Given the description of an element on the screen output the (x, y) to click on. 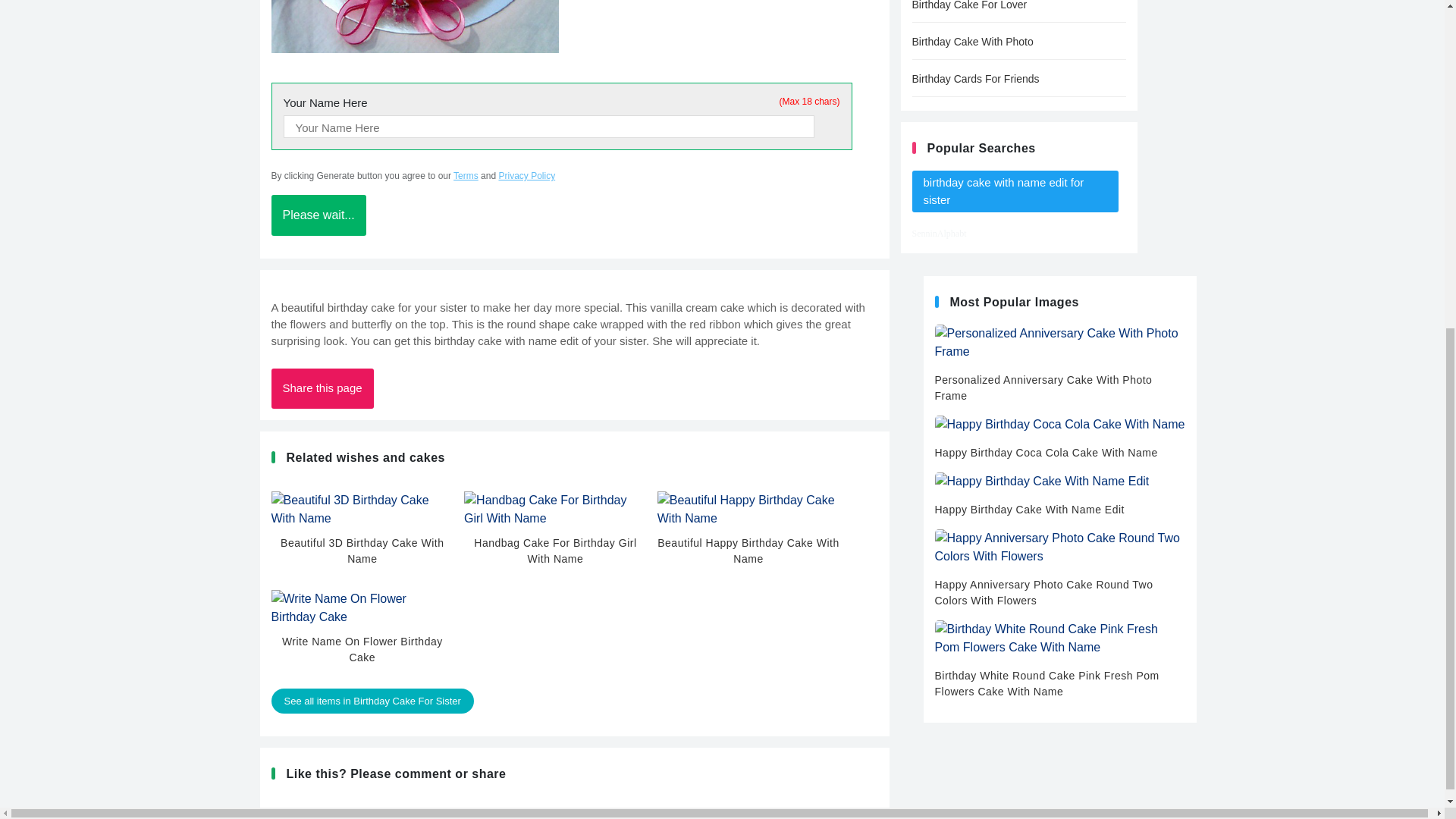
Happy Birthday Cake With Name Edit (1059, 494)
Happy Birthday Coca Cola Cake With Name (1059, 438)
birthday cake with name edit for sister (1014, 191)
Birthday Cards For Friends (1018, 79)
Beautiful Happy Birthday Cake With Name (749, 534)
See all items in Birthday Cake For Sister (372, 701)
Birthday Cake With Photo (1018, 41)
Happy Anniversary Photo Cake Round Two Colors With Flowers (1059, 569)
Privacy Policy (525, 175)
Personalized Anniversary Cake With Photo Frame (1059, 364)
Terms (465, 175)
Beautiful 3D Birthday Cake With Name (362, 534)
Please wait... (318, 214)
Write Name On Flower Birthday Cake (362, 632)
